Given the description of an element on the screen output the (x, y) to click on. 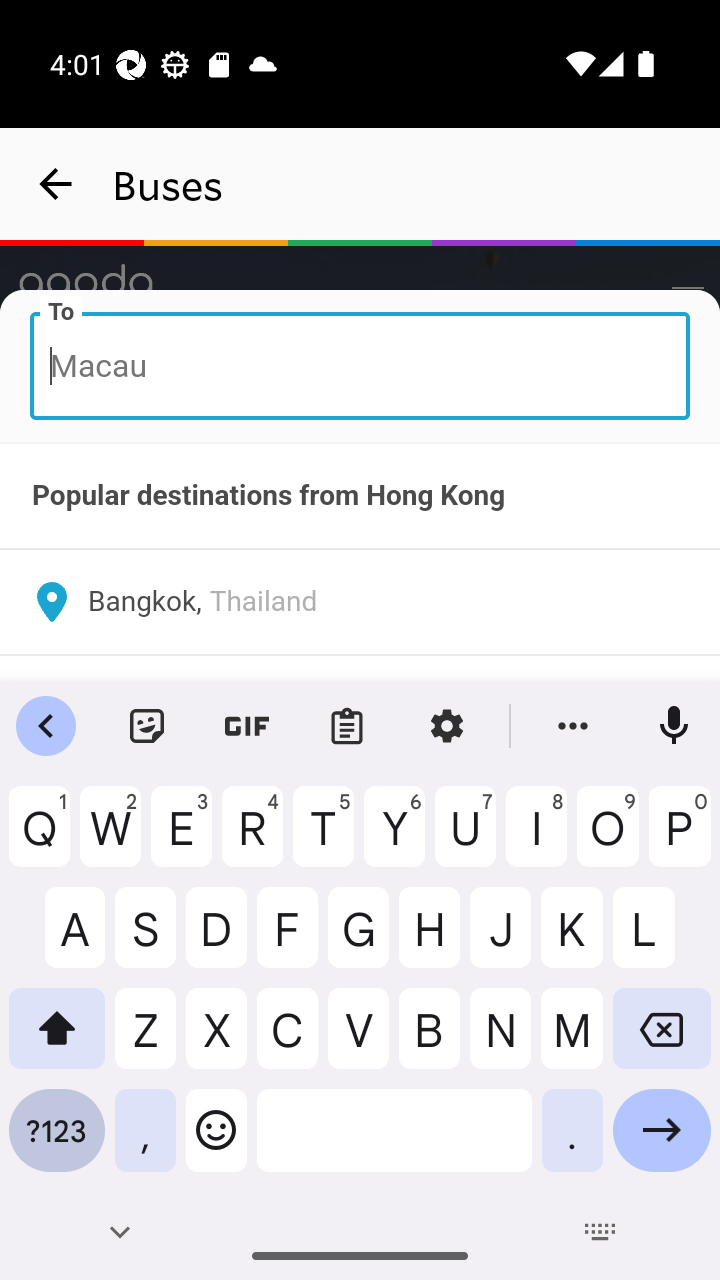
navigation_button (56, 184)
